Given the description of an element on the screen output the (x, y) to click on. 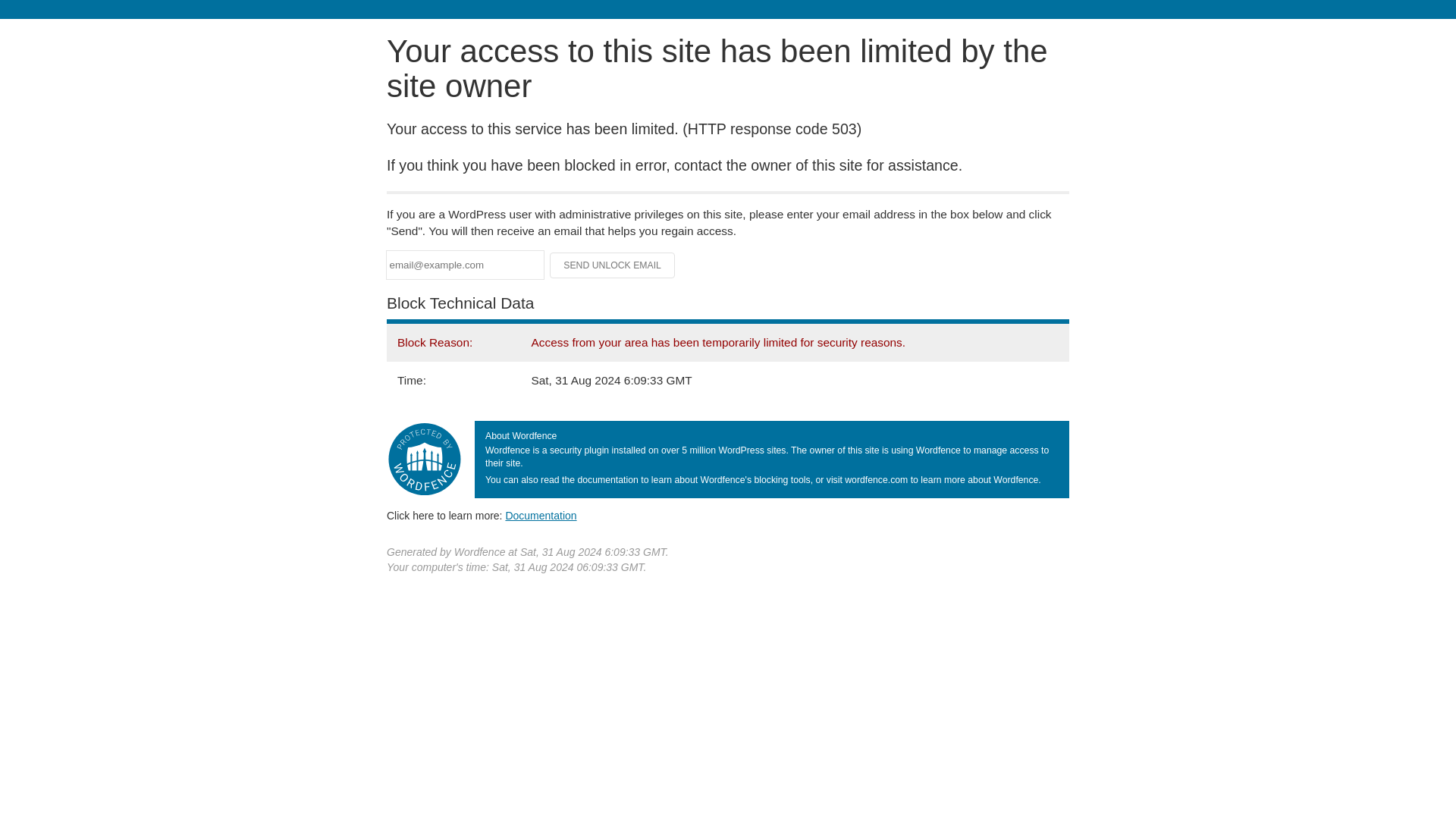
Send Unlock Email (612, 265)
Documentation (540, 515)
Send Unlock Email (612, 265)
